Given the description of an element on the screen output the (x, y) to click on. 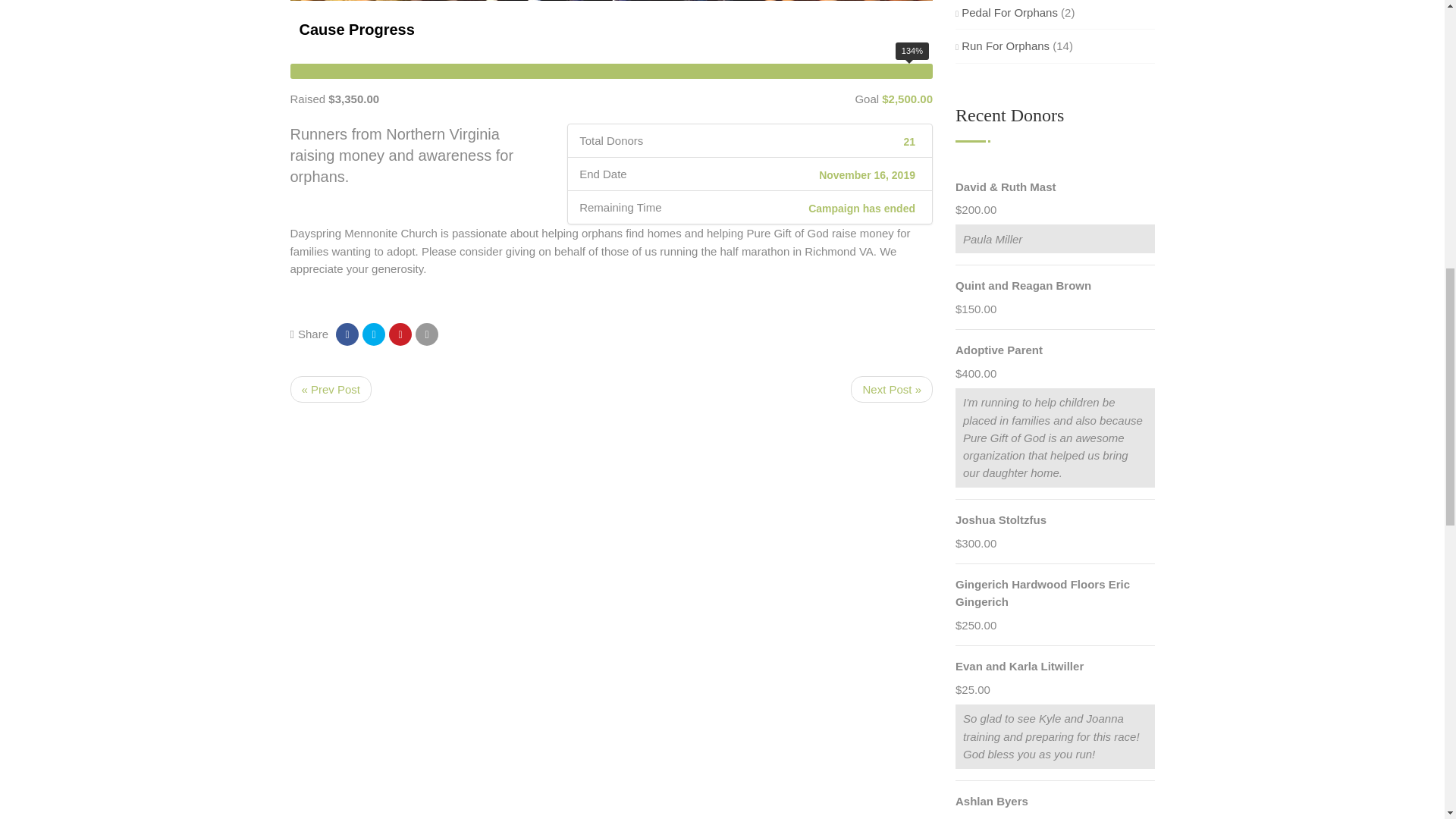
Share on Facebook (347, 333)
Pin it (400, 333)
Tweet (373, 333)
Run For Orphans (1002, 45)
Email (426, 333)
Pedal For Orphans (1006, 12)
